Given the description of an element on the screen output the (x, y) to click on. 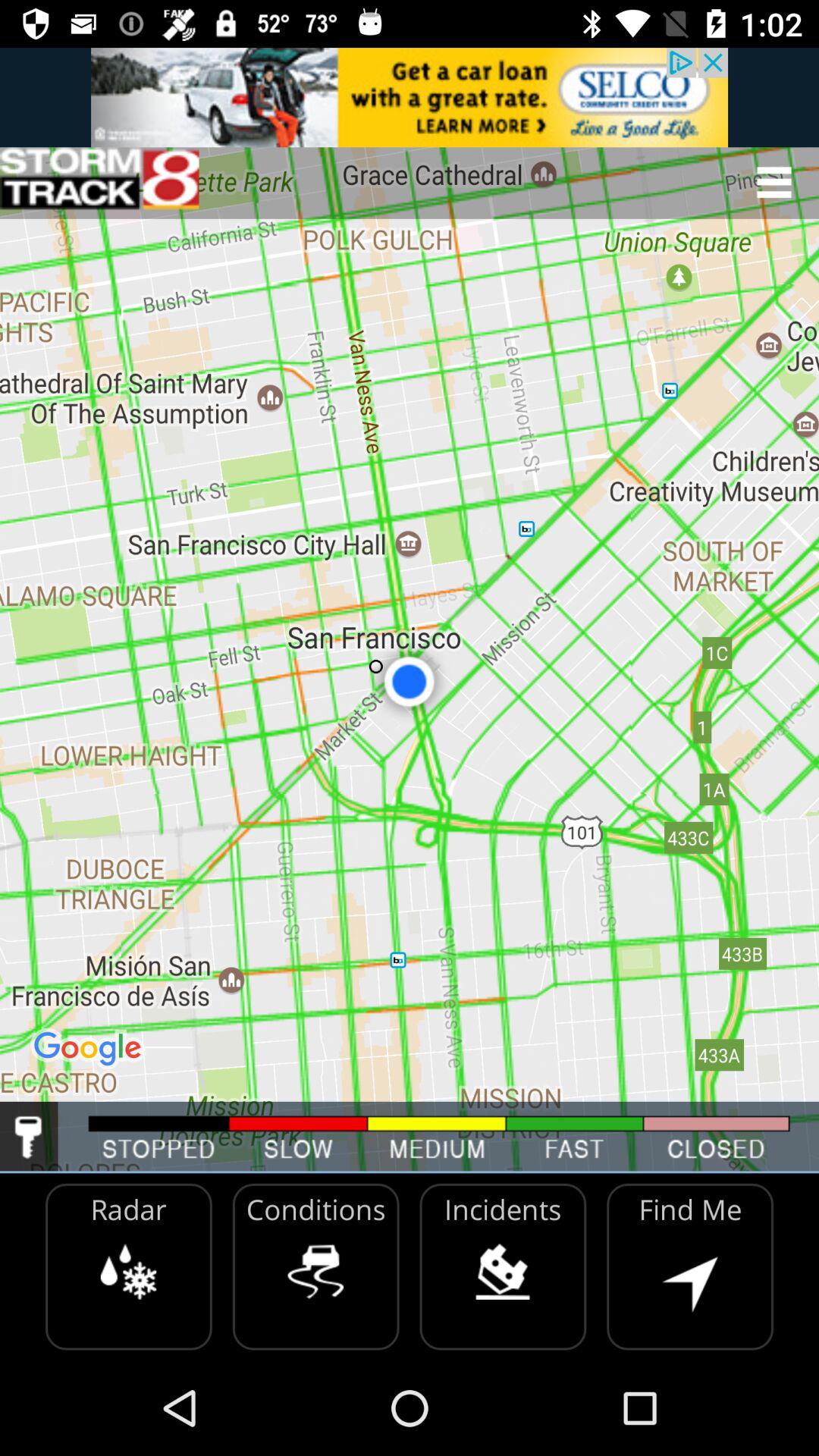
advertisement (409, 97)
